Given the description of an element on the screen output the (x, y) to click on. 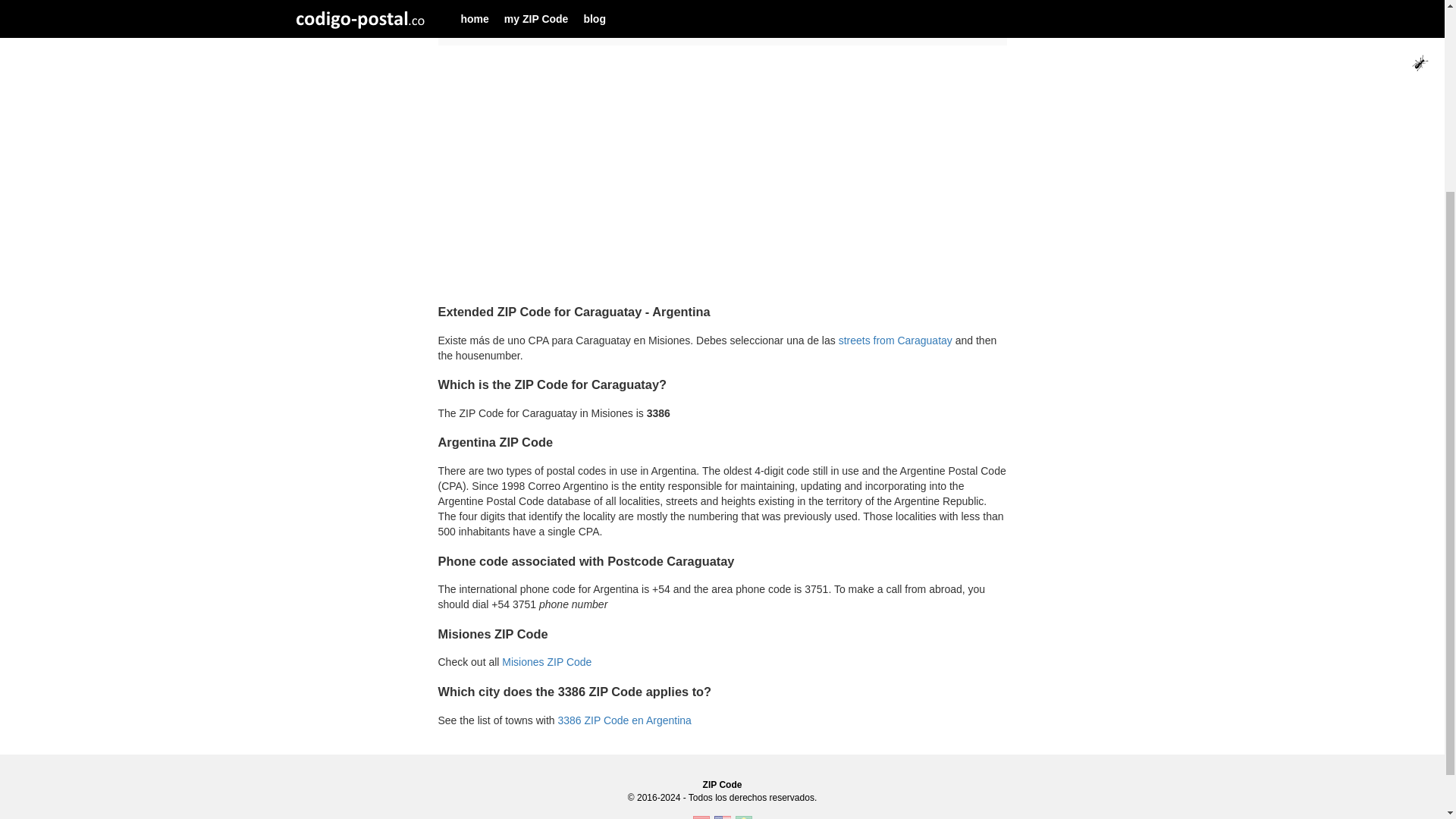
Search ZIP Code (722, 784)
N3384XAJ (812, 9)
Misiones ZIP Code (546, 662)
streets from Caraguatay (895, 340)
ZIP Code (722, 784)
Streets from Caraguatay (895, 340)
Advertisement (722, 181)
Misiones ZIP Code (546, 662)
3386 ZIP Code en Argentina (623, 720)
N3384XAL (812, 33)
